Given the description of an element on the screen output the (x, y) to click on. 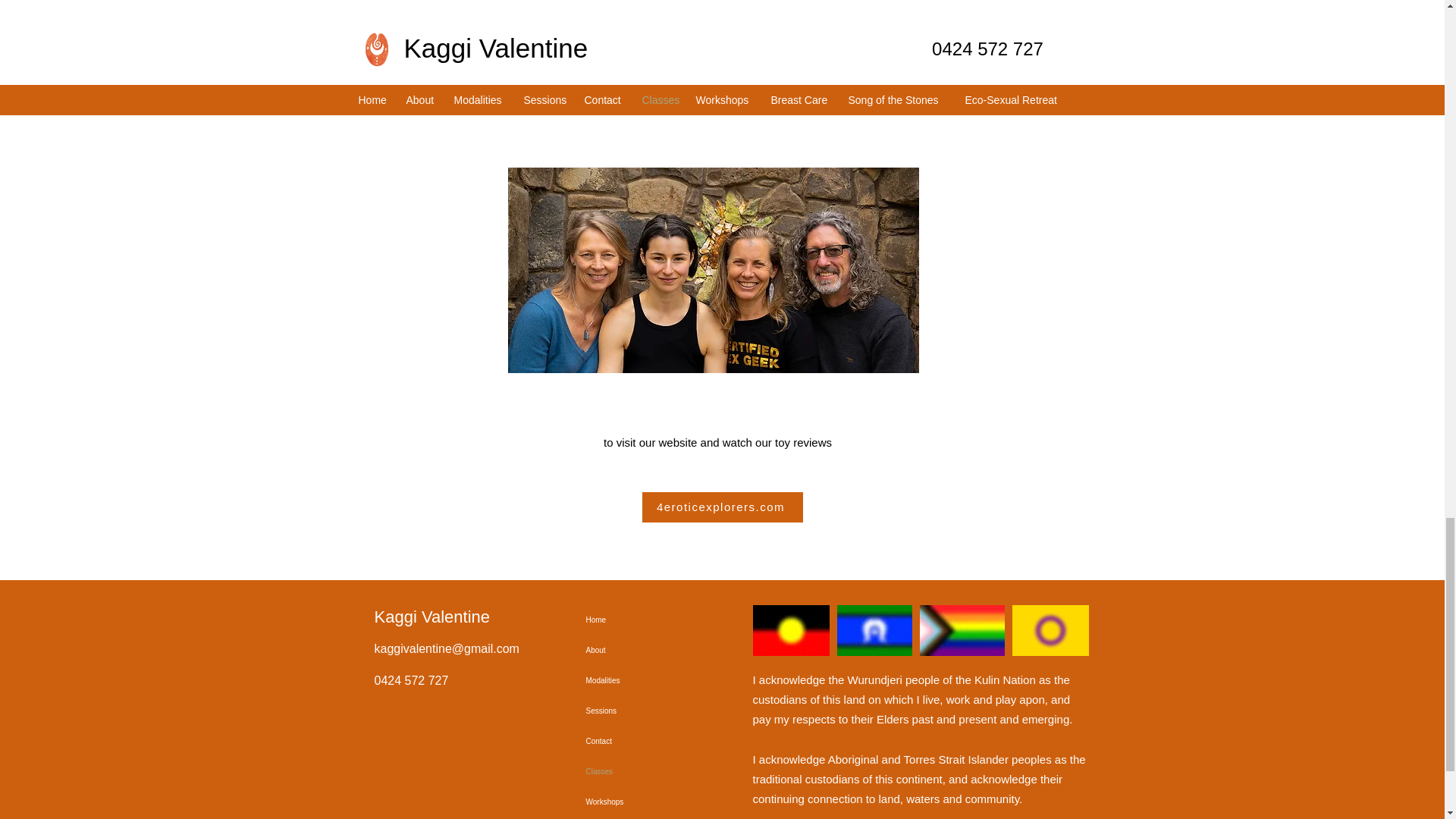
aboriginal flag.jpg (790, 630)
Workshops (639, 802)
Join our mailing list (712, 75)
Sessions (639, 711)
Contact (639, 741)
new-pride-flag-01.jpg (961, 630)
Home (639, 620)
Breast Care (639, 818)
4eroticexplorers.com (722, 507)
torres strait islander flag.jpg (874, 630)
Modalities (639, 680)
About (639, 650)
Classes (639, 771)
Intersex Pride Flag.png (1049, 630)
